Given the description of an element on the screen output the (x, y) to click on. 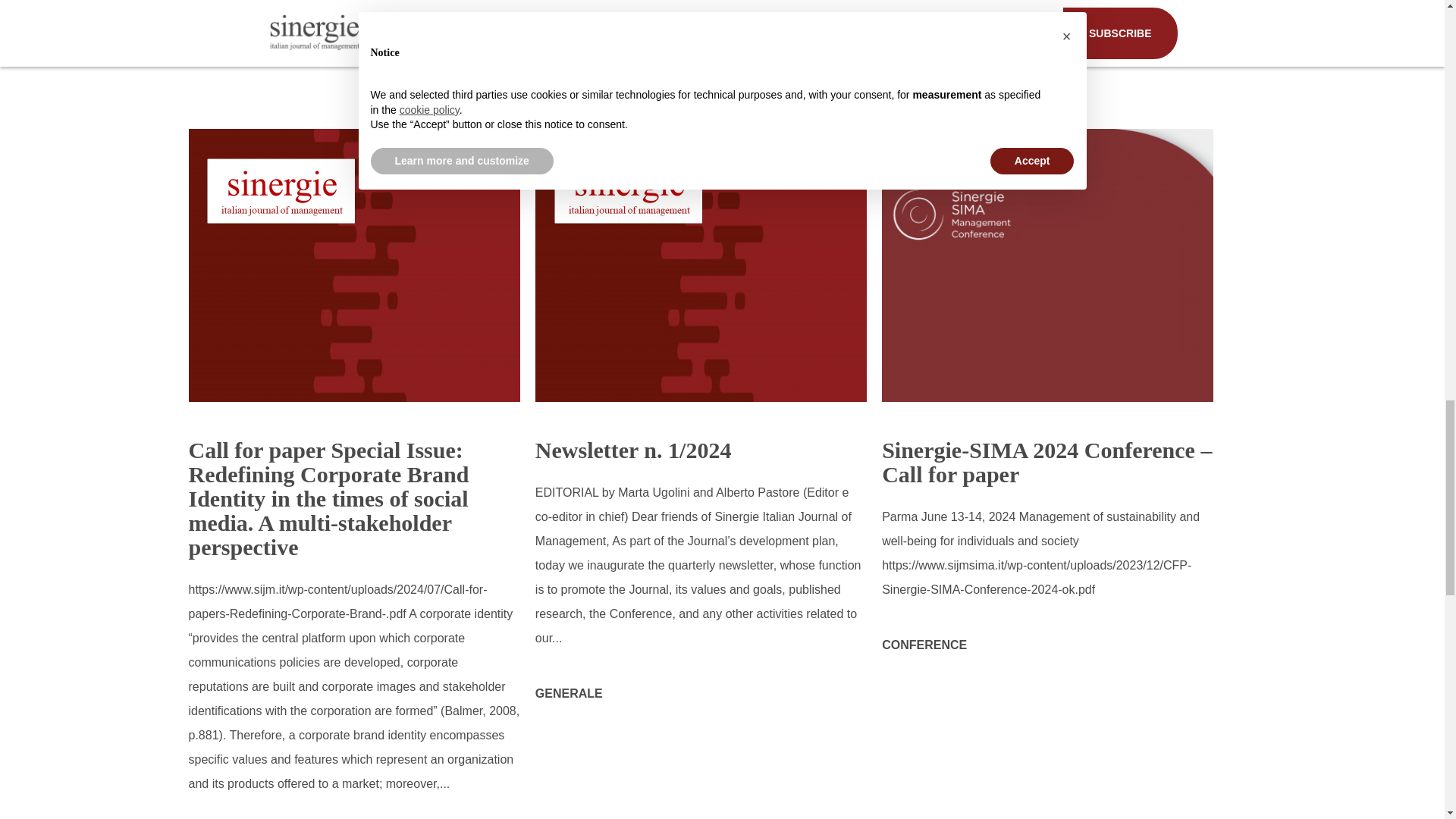
GENERALE (568, 693)
CONFERENCE (924, 645)
